Given the description of an element on the screen output the (x, y) to click on. 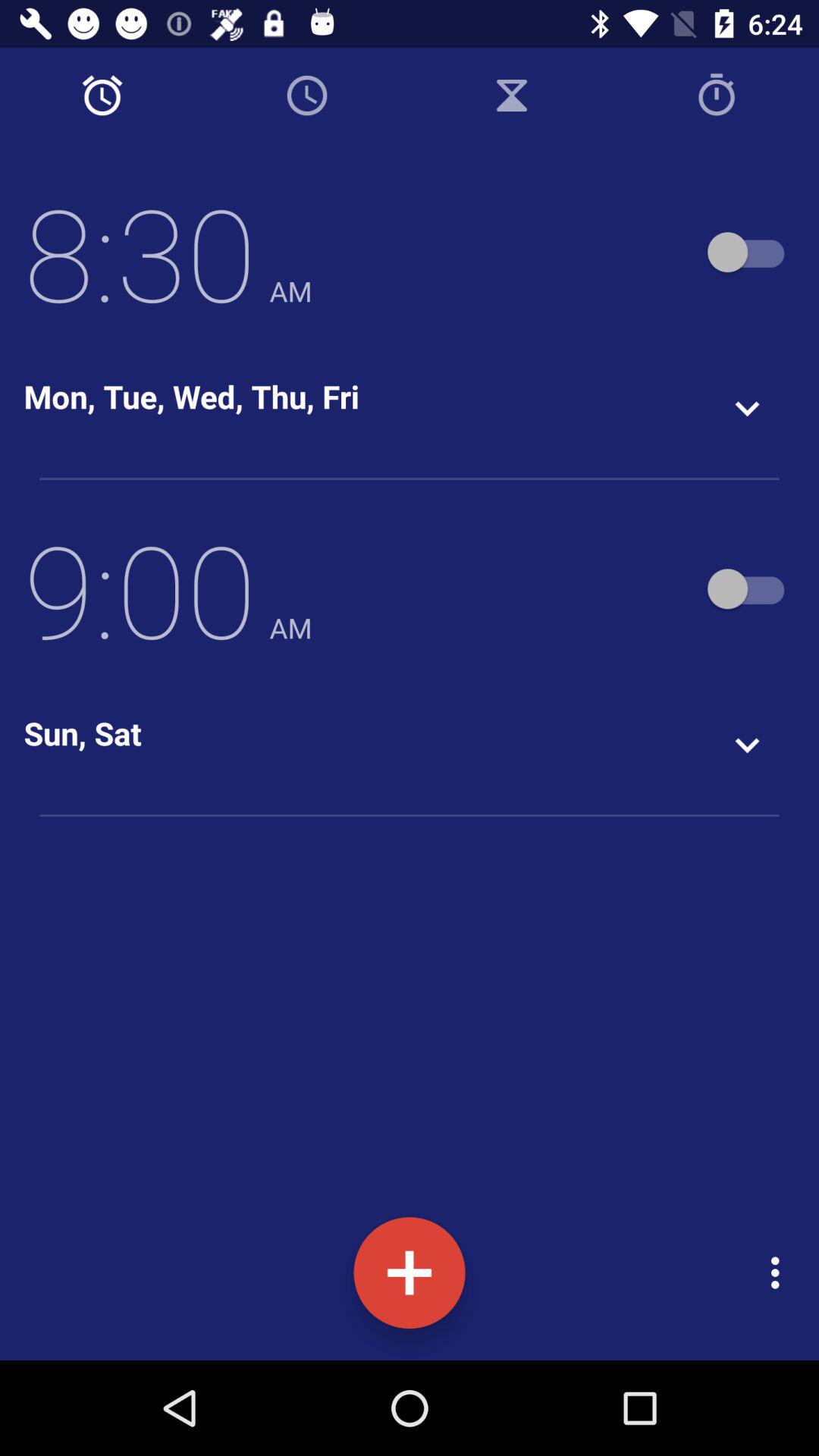
select the text below 830 am (191, 395)
click on more settings icon (779, 1272)
click on the top third button of the page (512, 95)
click icon on the right side of 900 am (748, 588)
click on timer icon next to alarm icon on the top of the page (307, 95)
click on stopwatch icon on the topmost right corner of the page (716, 95)
click on the button which is next to mon tue wed thu fri (747, 409)
click on  (409, 1273)
